Given the description of an element on the screen output the (x, y) to click on. 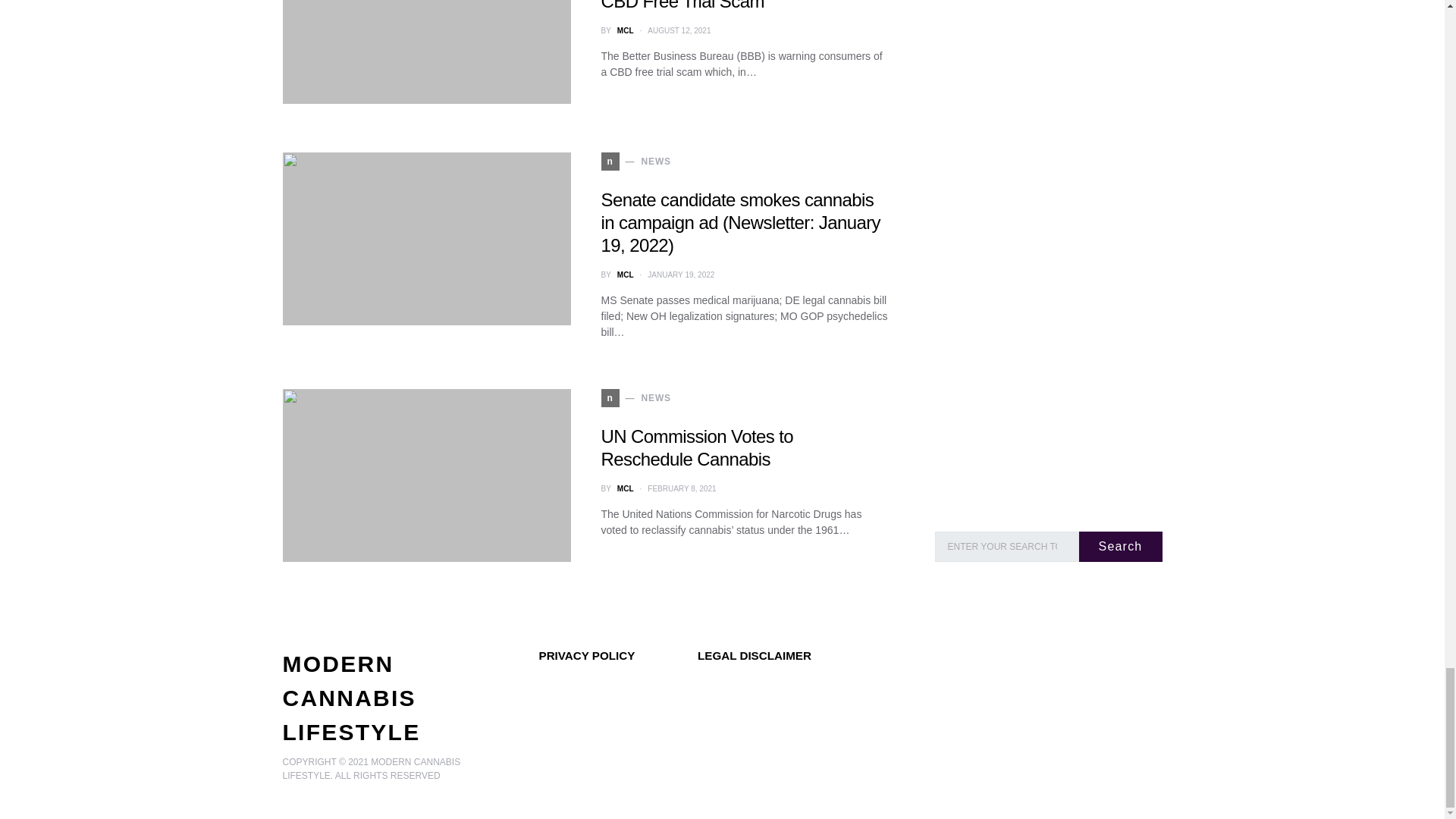
View all posts by MCL (625, 30)
View all posts by MCL (625, 274)
View all posts by MCL (625, 487)
